Given the description of an element on the screen output the (x, y) to click on. 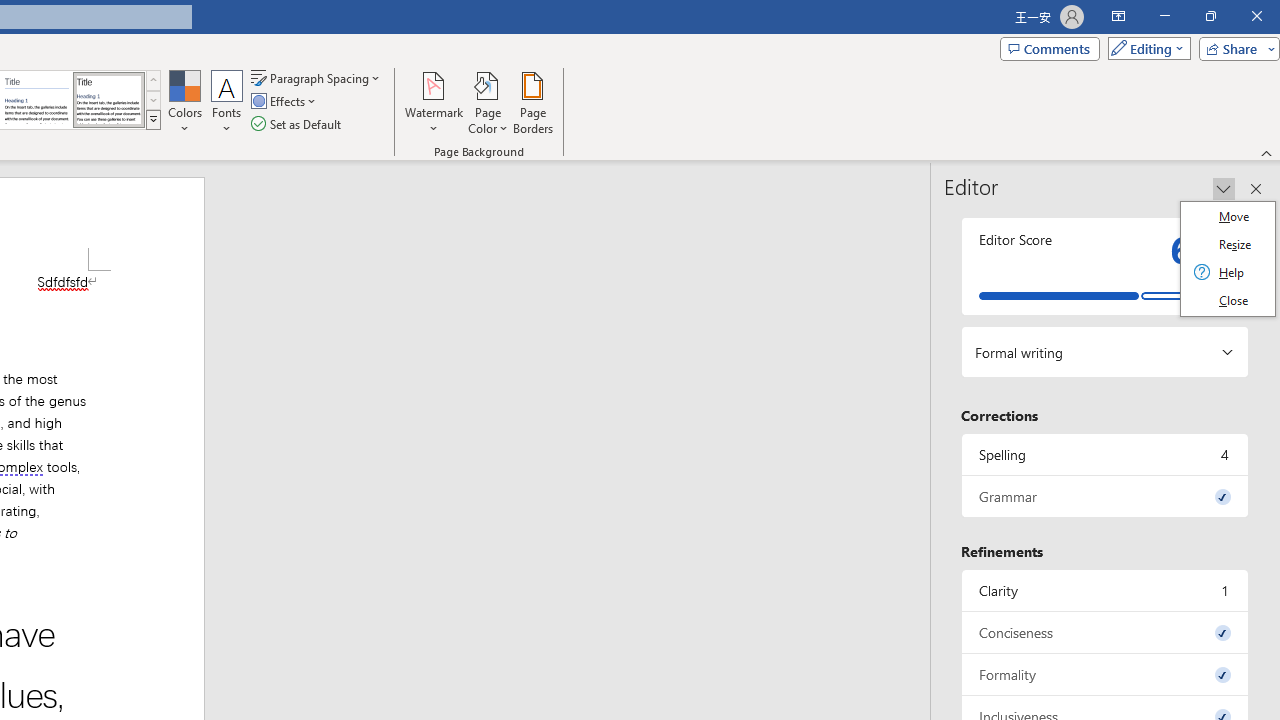
Watermark (434, 102)
Style Set (153, 120)
Grammar, 0 issues. Press space or enter to review items. (1105, 495)
Fonts (227, 102)
Formality, 0 issues. Press space or enter to review items. (1105, 673)
Page Color (487, 102)
Paragraph Spacing (317, 78)
Set as Default (298, 124)
